Given the description of an element on the screen output the (x, y) to click on. 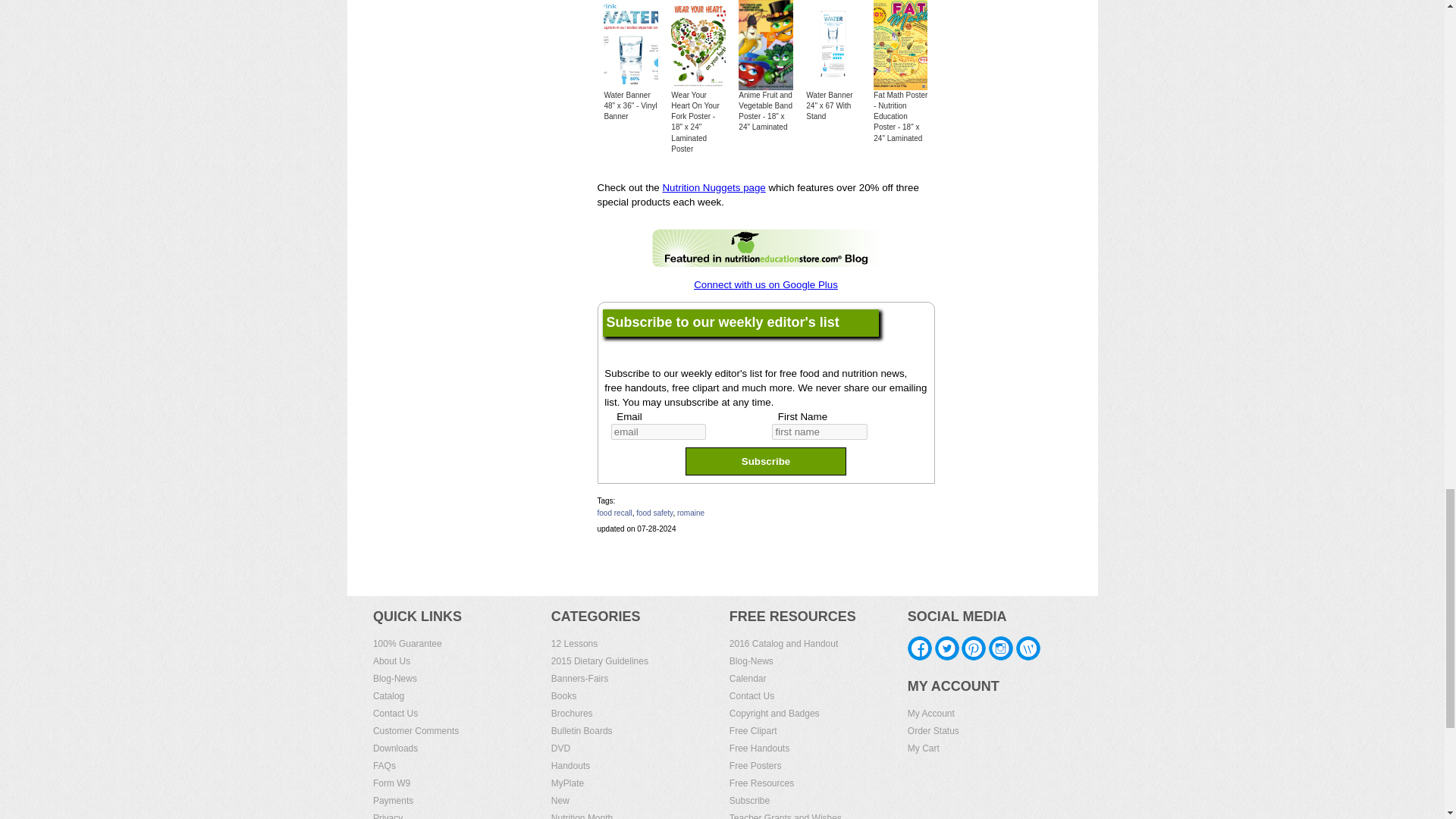
Subscribe (766, 461)
